Given the description of an element on the screen output the (x, y) to click on. 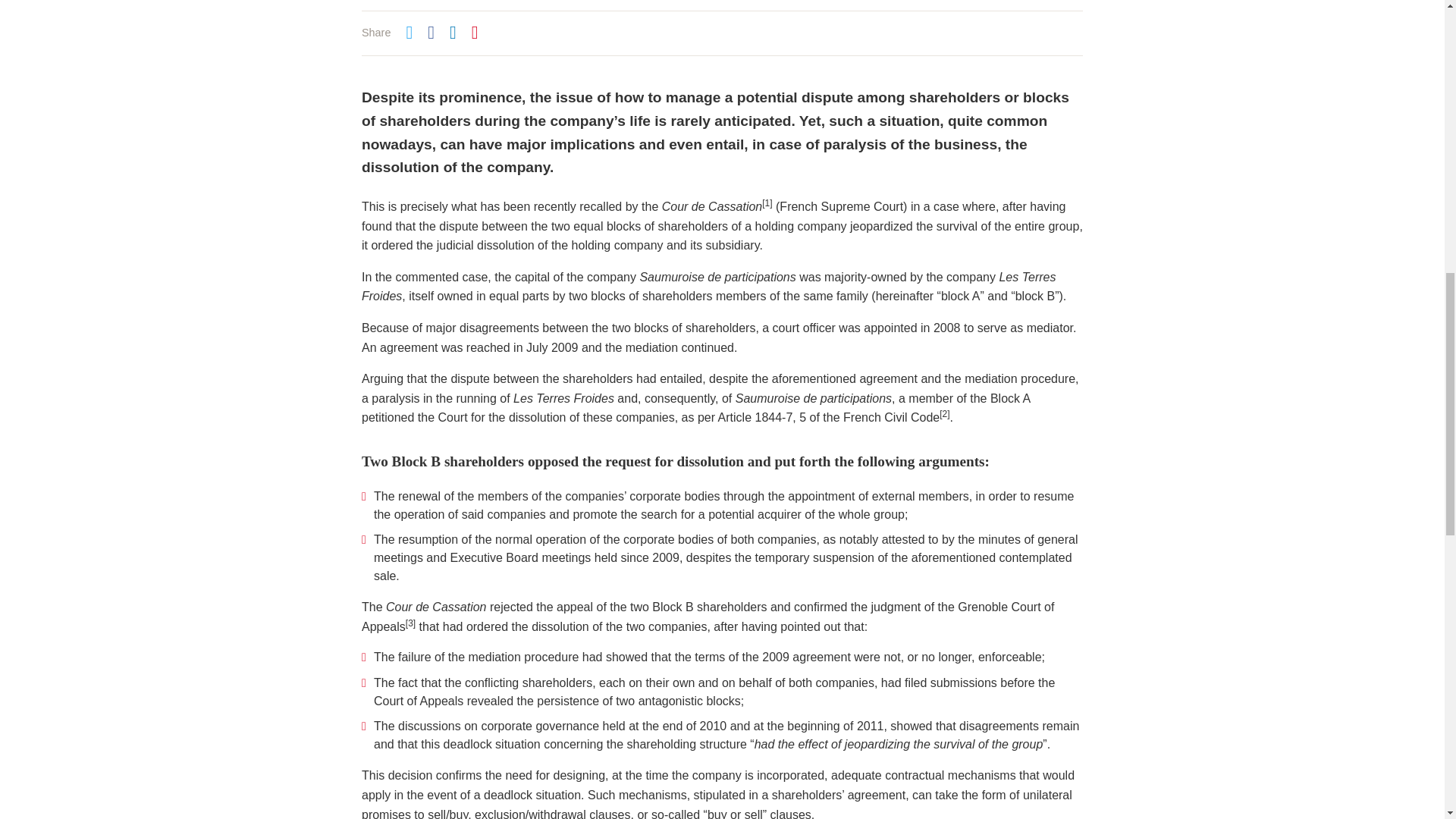
Facebook (430, 34)
Twitter (409, 34)
Envoyer par mail (475, 34)
Linkedin (453, 34)
